Given the description of an element on the screen output the (x, y) to click on. 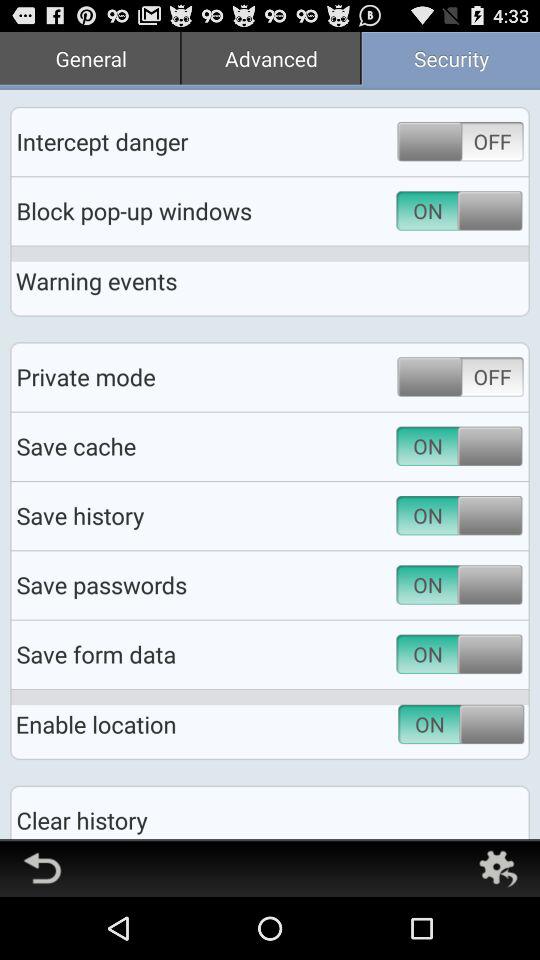
click the switch button on the save history (489, 584)
